Given the description of an element on the screen output the (x, y) to click on. 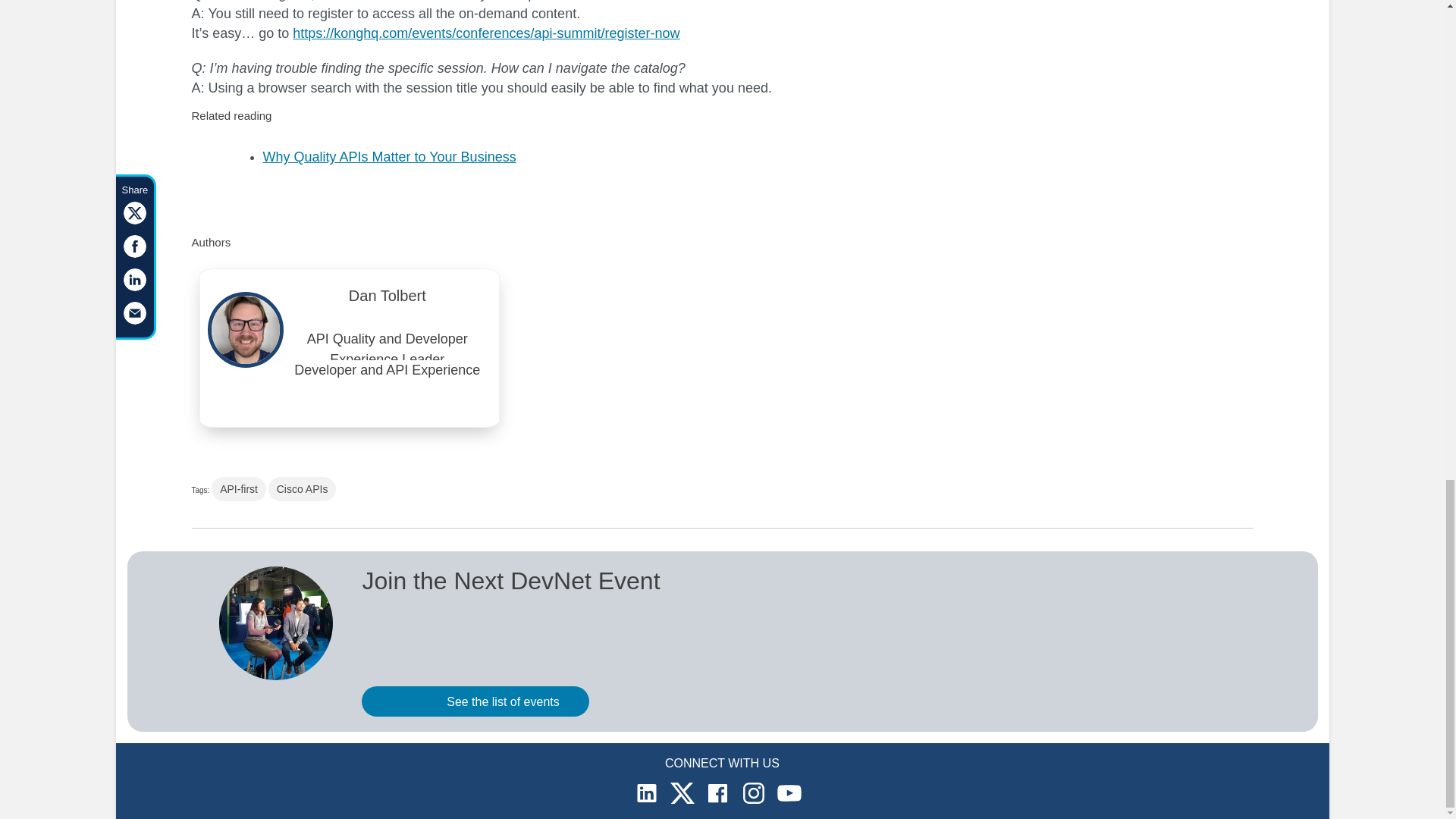
Cisco APIs (301, 488)
Why Quality APIs Matter to Your Business (388, 156)
Dan Tolbert (387, 299)
See the list of events (475, 701)
API-first (238, 488)
